Given the description of an element on the screen output the (x, y) to click on. 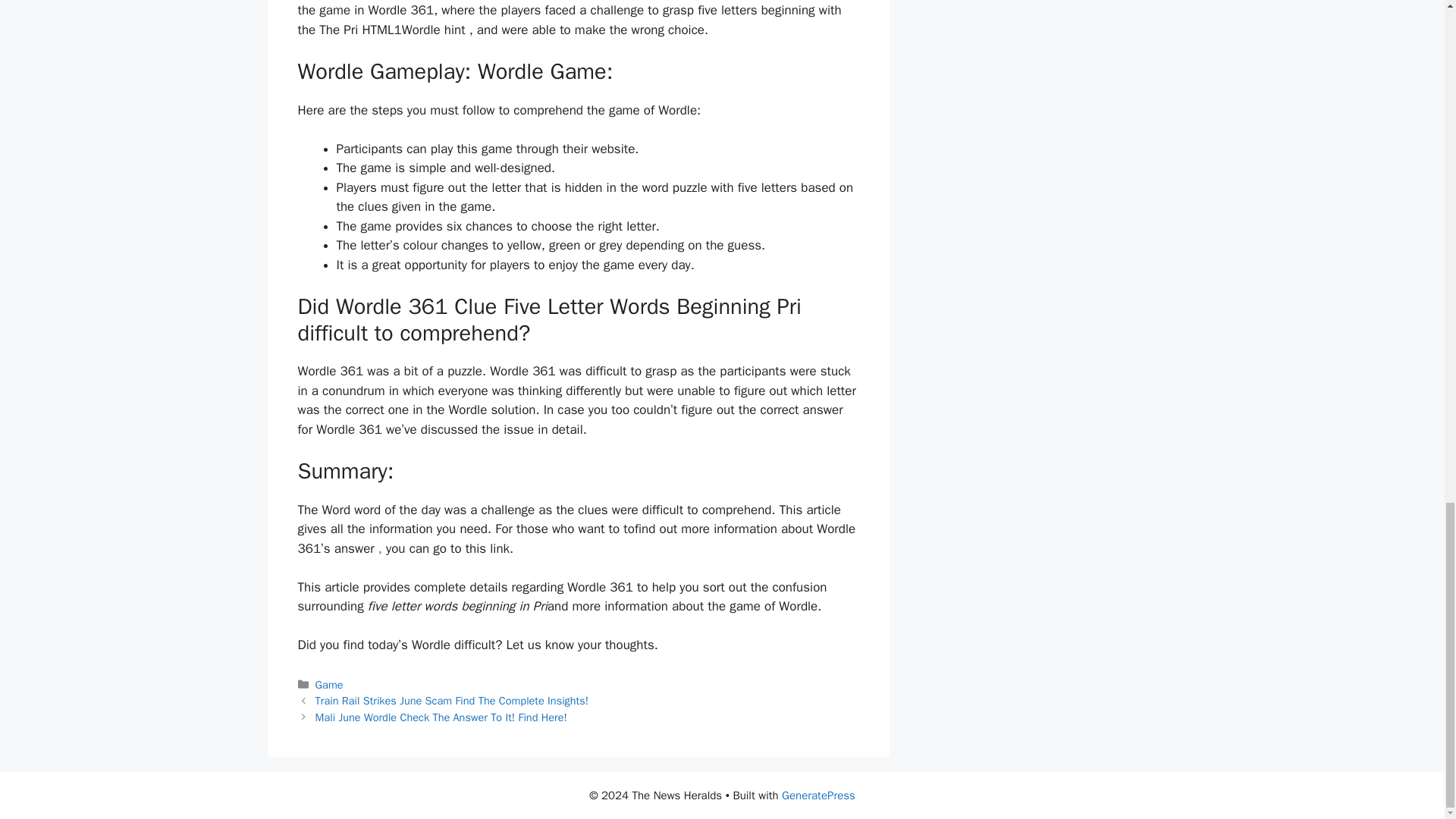
Mali June Wordle Check The Answer To It! Find Here! (441, 716)
Game (329, 684)
GeneratePress (818, 795)
Train Rail Strikes June Scam Find The Complete Insights! (451, 700)
